Given the description of an element on the screen output the (x, y) to click on. 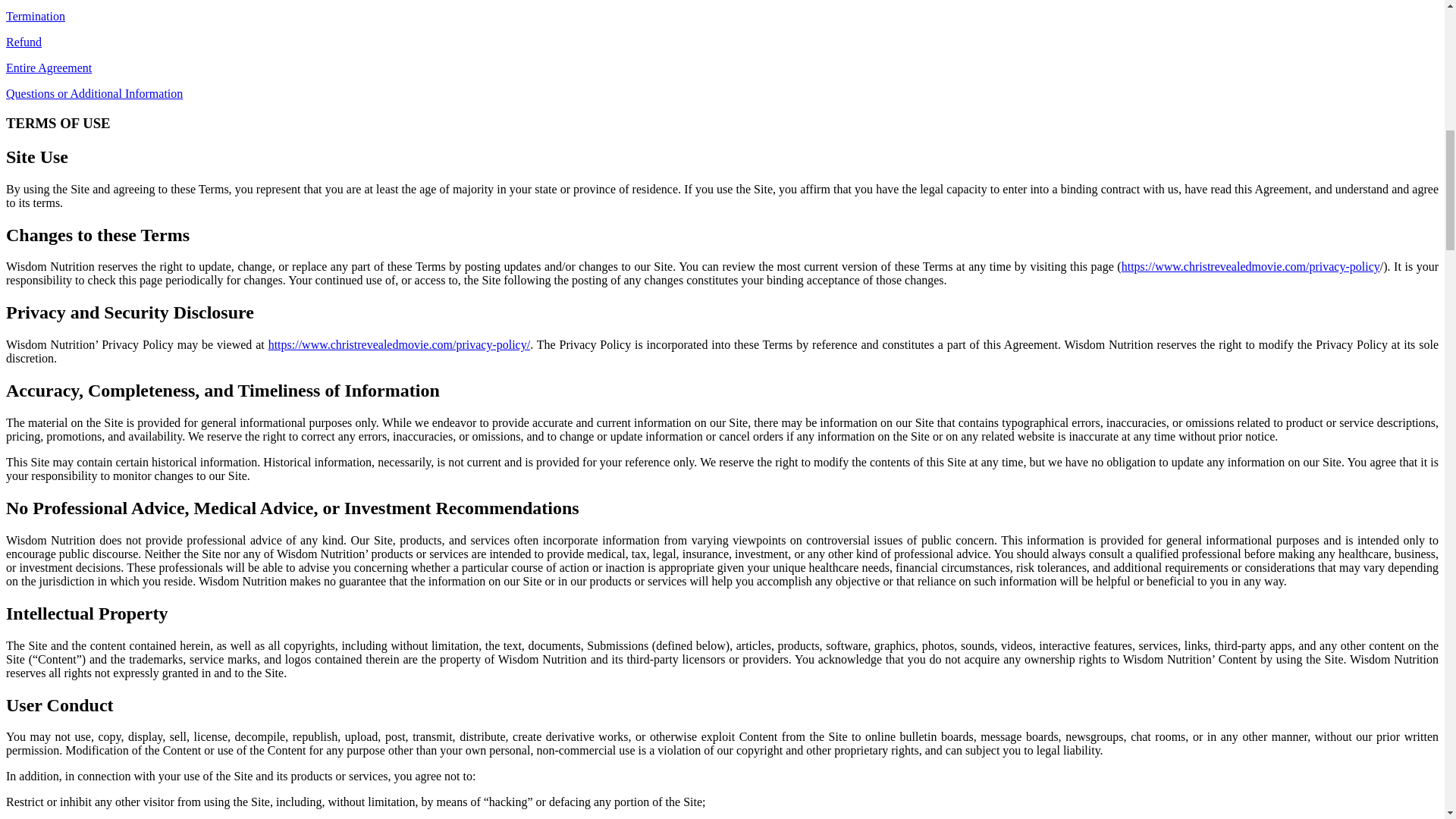
Questions or Additional Information (94, 92)
Termination (35, 15)
Refund (23, 42)
Entire Agreement (48, 67)
